Given the description of an element on the screen output the (x, y) to click on. 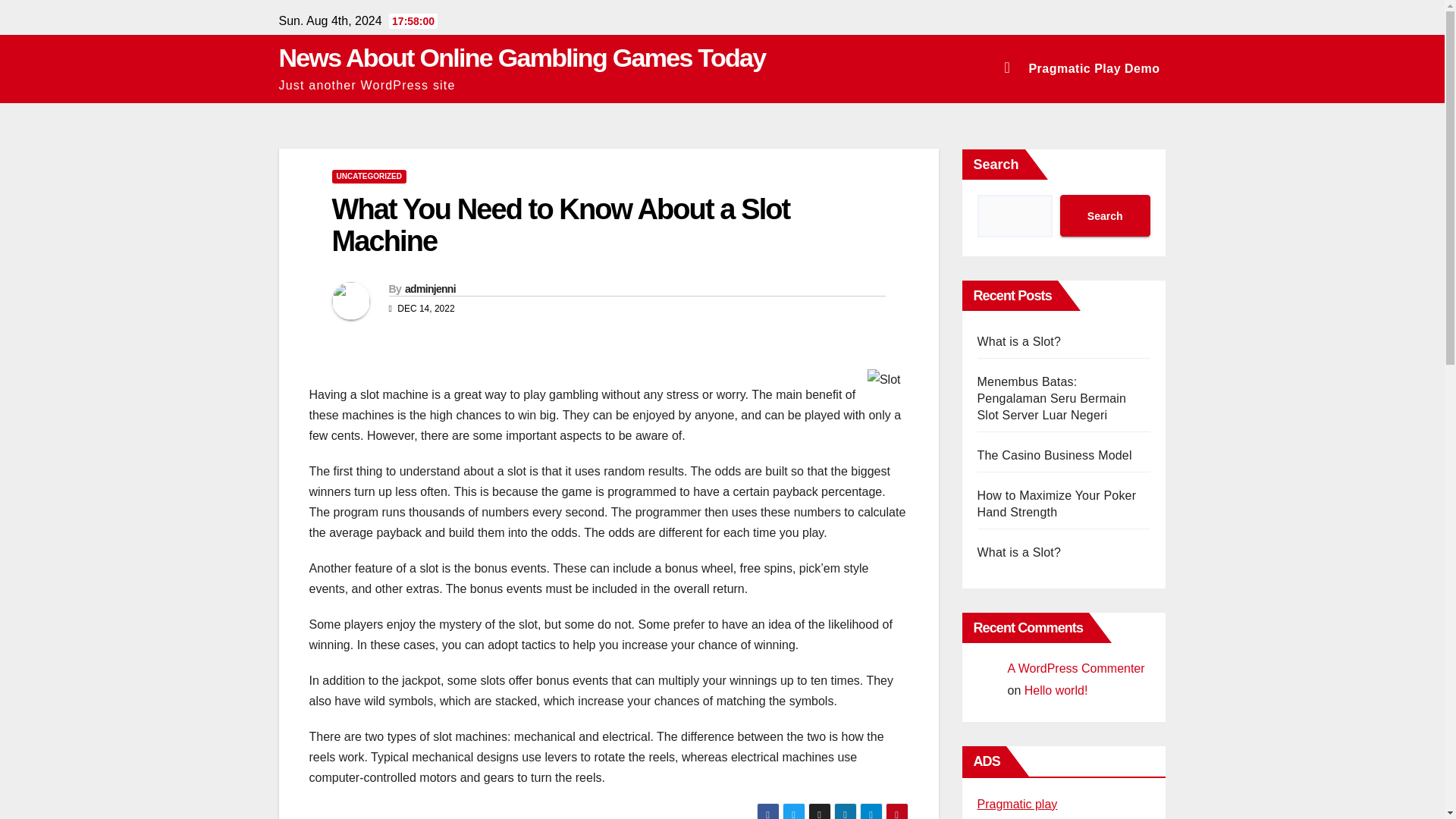
What is a Slot? (1018, 552)
What You Need to Know About a Slot Machine (560, 225)
How to Maximize Your Poker Hand Strength (1055, 503)
The Casino Business Model (1053, 454)
Search (1104, 215)
Pragmatic play (1016, 803)
What is a Slot? (1018, 341)
A WordPress Commenter (1075, 667)
News About Online Gambling Games Today (522, 57)
